Given the description of an element on the screen output the (x, y) to click on. 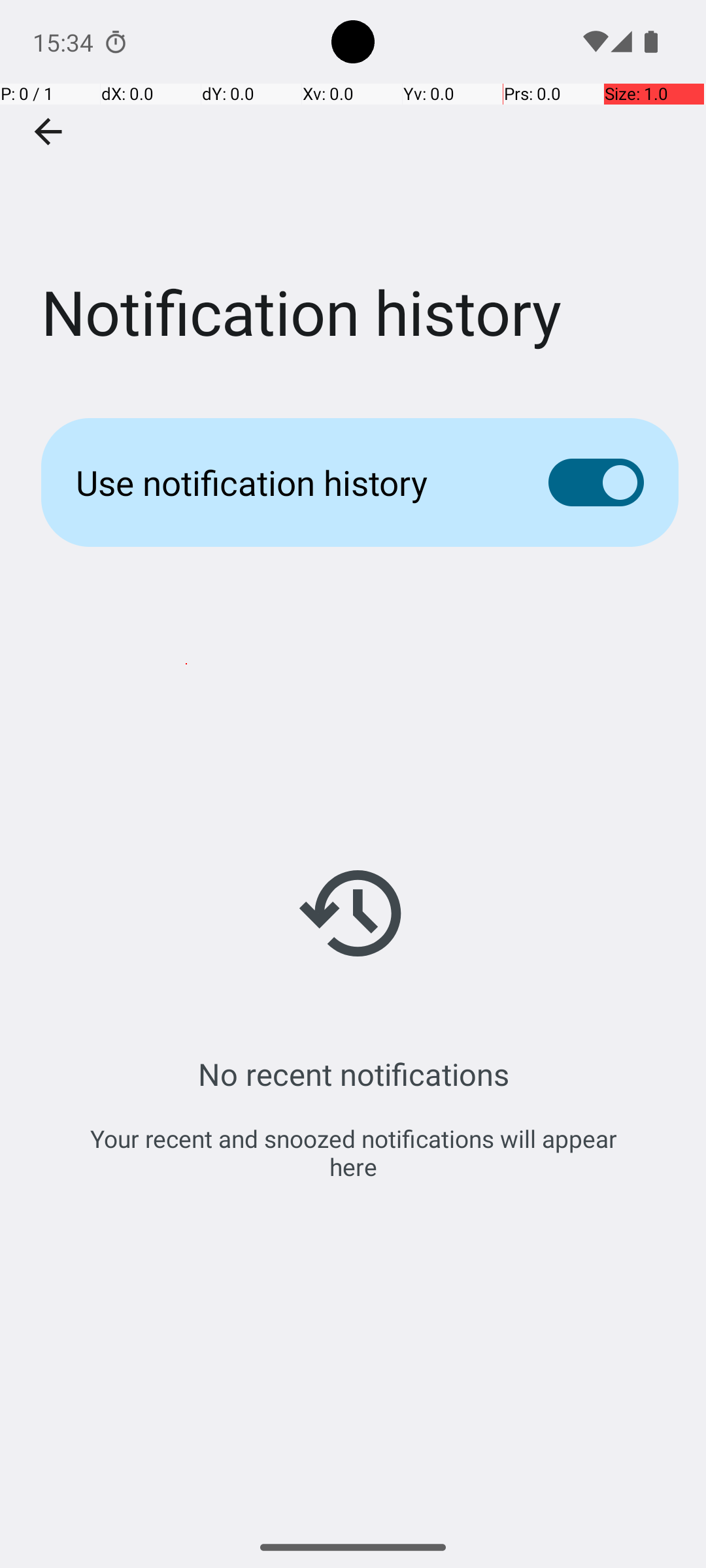
No recent notifications Element type: android.widget.TextView (352, 1073)
Your recent and snoozed notifications will appear here Element type: android.widget.TextView (352, 1152)
